Given the description of an element on the screen output the (x, y) to click on. 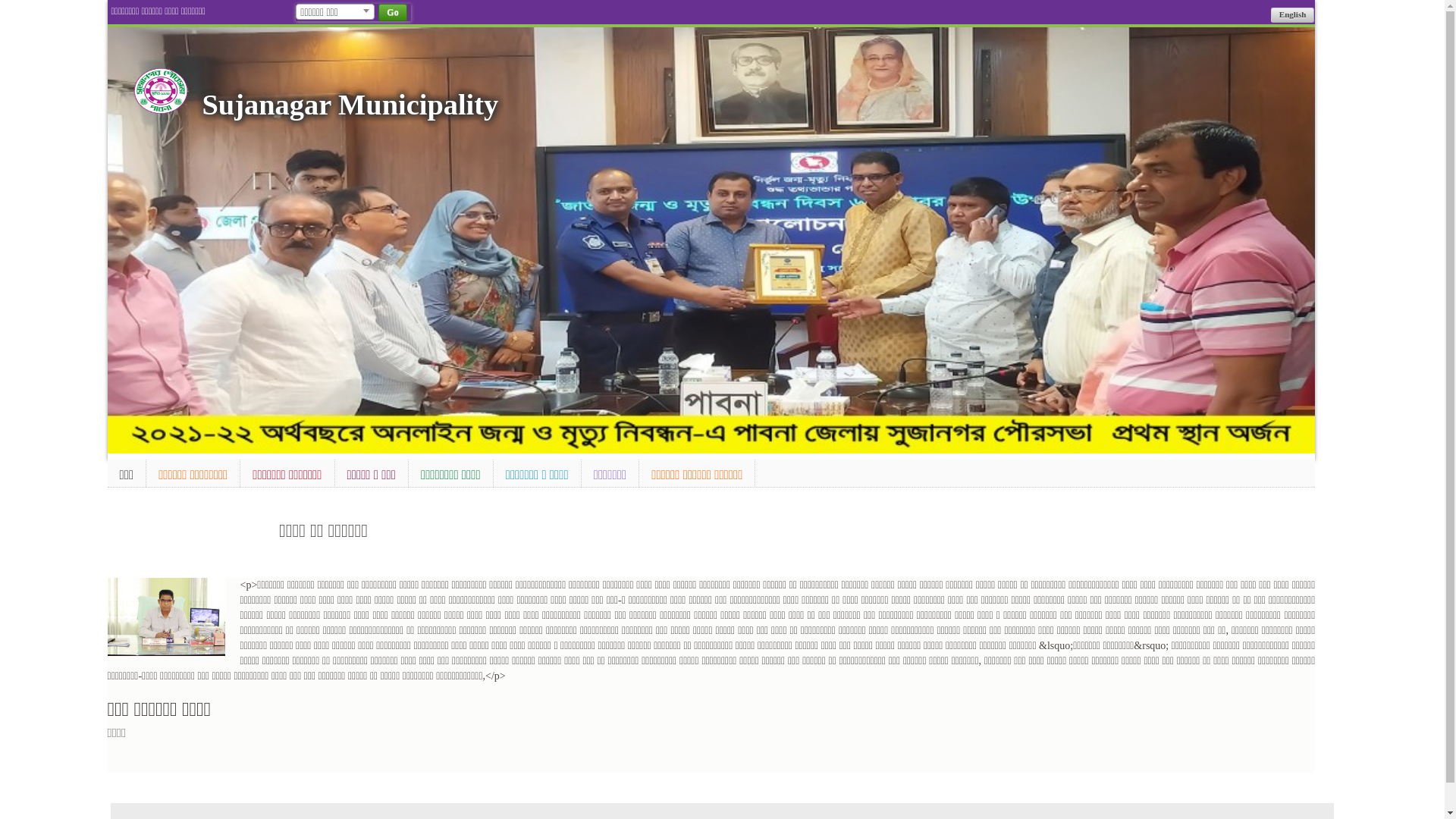
English Element type: text (1292, 14)
Go Element type: text (392, 12)
Sujanagar Municipality Element type: text (350, 104)
Home Element type: hover (160, 90)
